Given the description of an element on the screen output the (x, y) to click on. 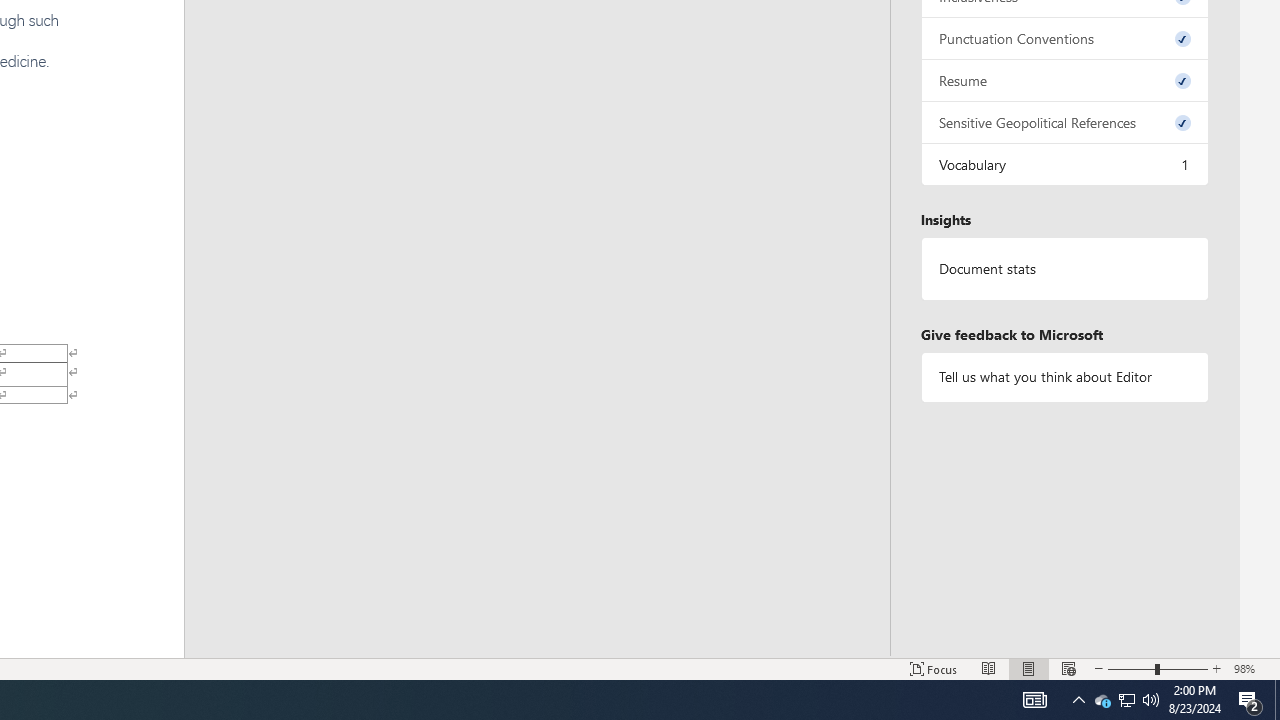
Vocabulary, 1 issue. Press space or enter to review items. (1064, 164)
Resume, 0 issues. Press space or enter to review items. (1064, 79)
Document statistics (1064, 269)
Tell us what you think about Editor (1064, 376)
